Given the description of an element on the screen output the (x, y) to click on. 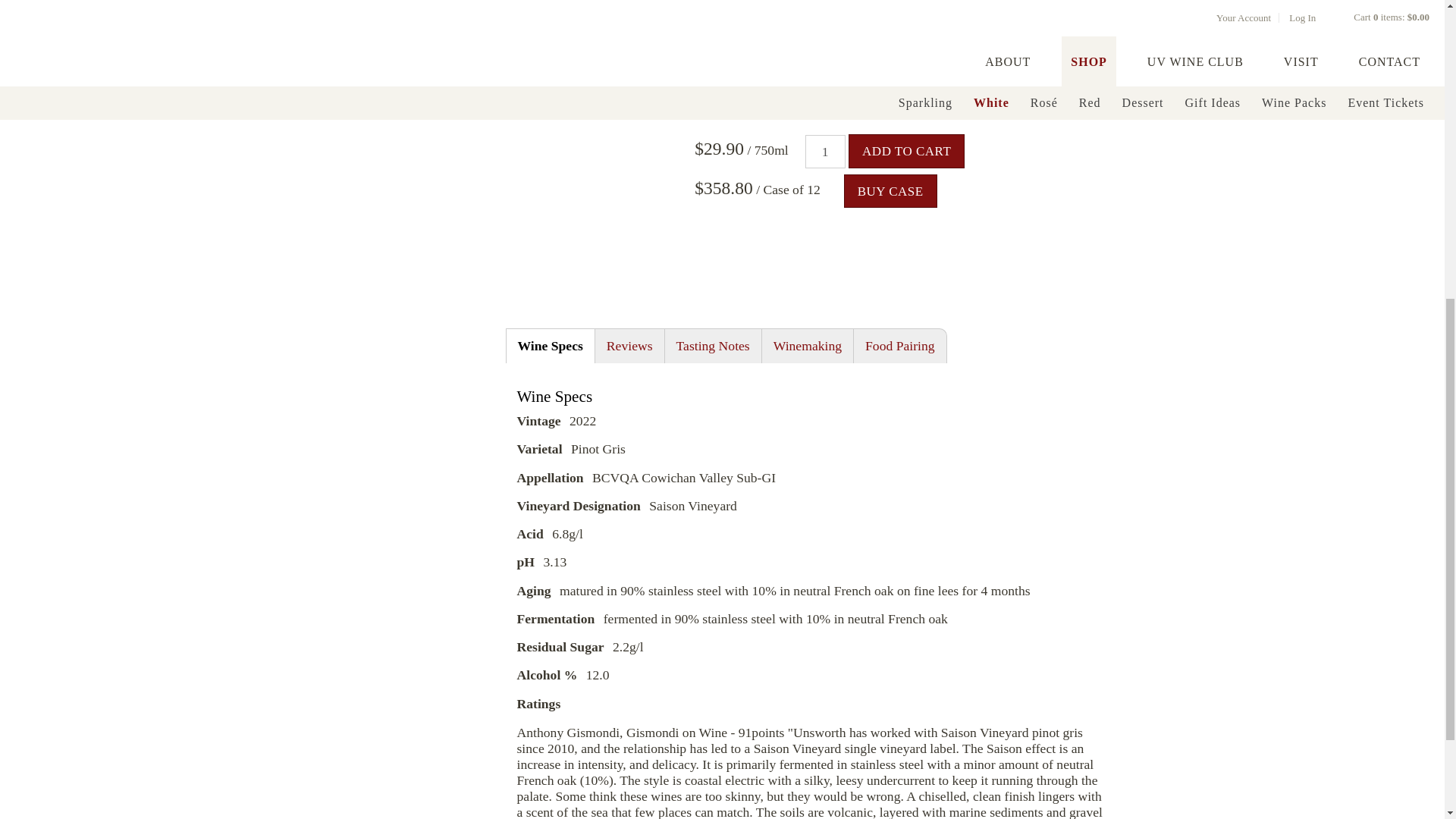
Wine Specs (549, 345)
Wine Club (750, 83)
Winemaking (807, 345)
BUY CASE (890, 191)
ADD TO CART (905, 150)
Tasting Notes (712, 345)
1 (825, 151)
Reviews (628, 345)
Food Pairing (900, 345)
